Given the description of an element on the screen output the (x, y) to click on. 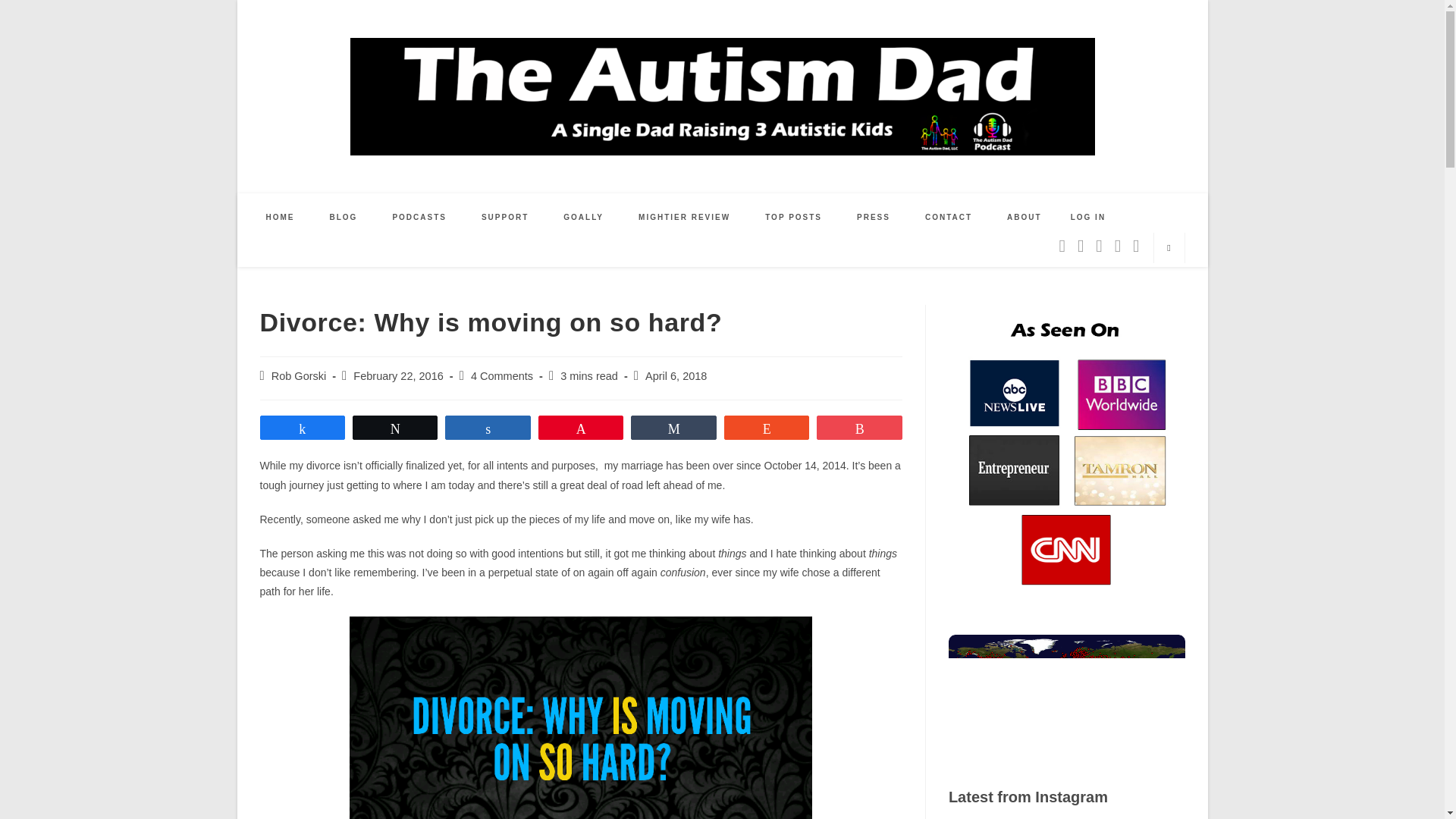
Rob Gorski (298, 376)
wp-1456193485225 (580, 717)
HOME (280, 217)
4 Comments (501, 376)
ABOUT (1024, 217)
CONTACT (948, 217)
GOALLY (583, 217)
BLOG (344, 217)
PODCASTS (419, 217)
